Given the description of an element on the screen output the (x, y) to click on. 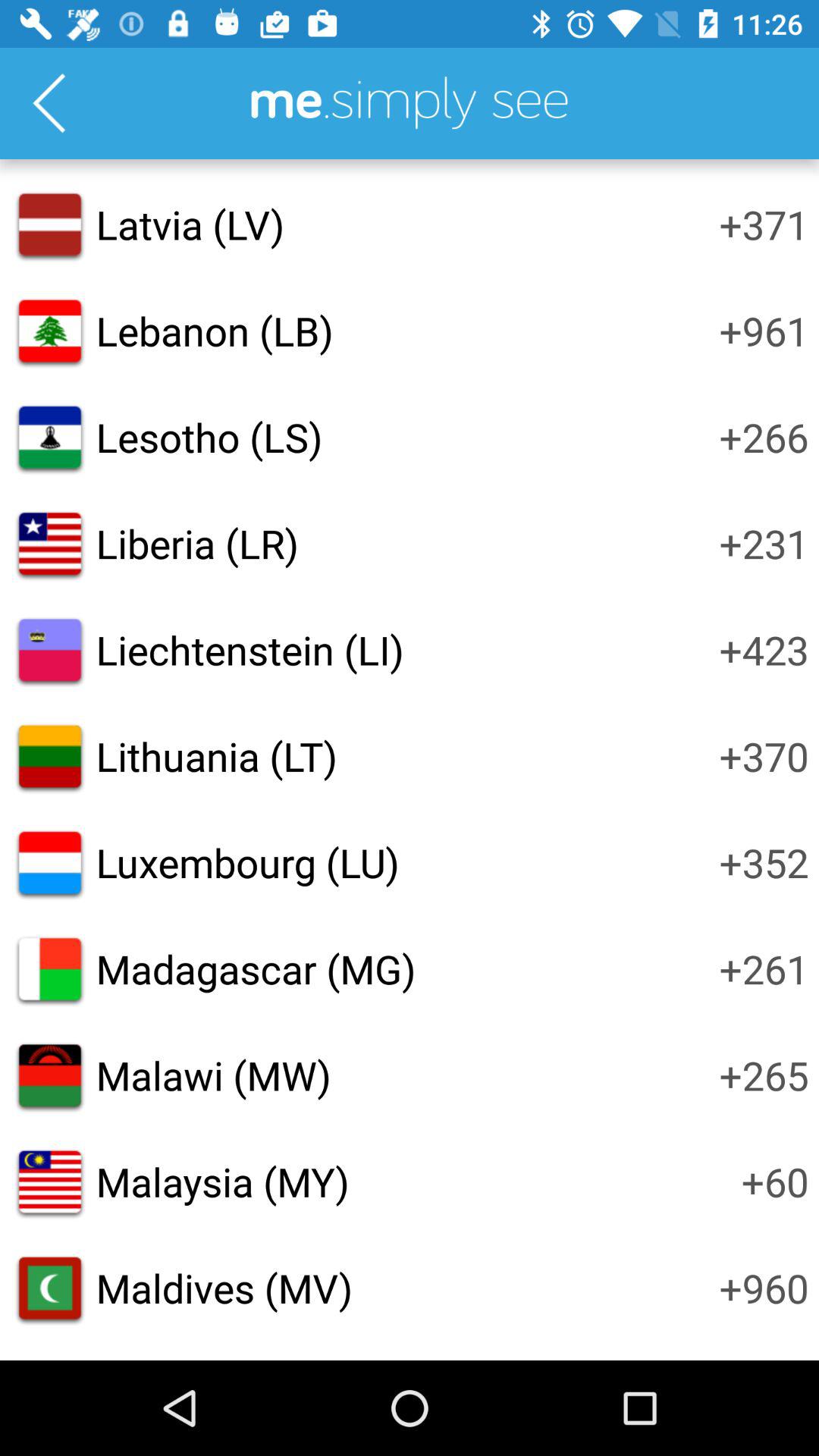
go to previous (48, 102)
